Given the description of an element on the screen output the (x, y) to click on. 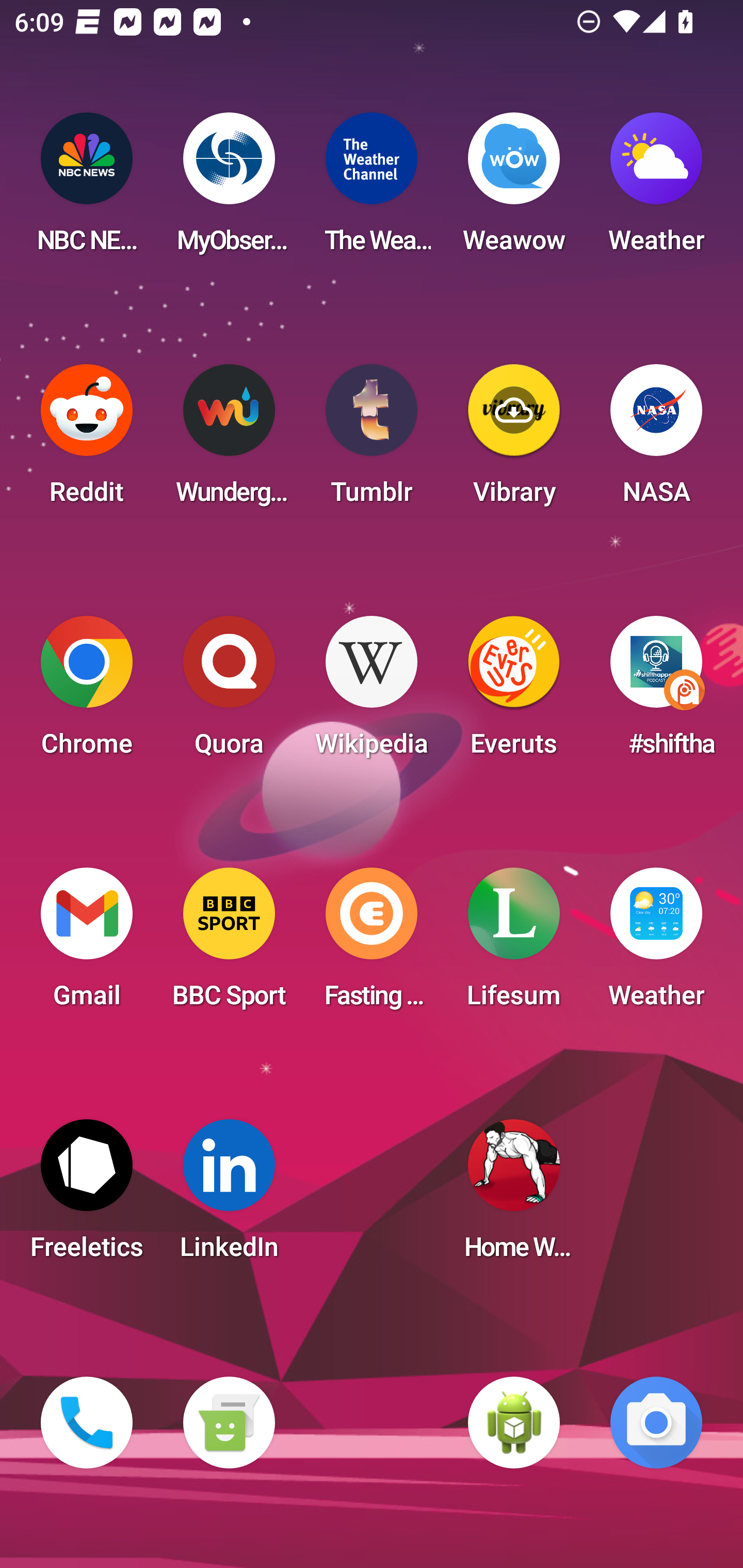
NBC NEWS (86, 188)
MyObservatory (228, 188)
The Weather Channel (371, 188)
Weawow (513, 188)
Weather (656, 188)
Reddit (86, 440)
Wunderground (228, 440)
Tumblr (371, 440)
Vibrary (513, 440)
NASA (656, 440)
Chrome (86, 692)
Quora (228, 692)
Wikipedia (371, 692)
Everuts (513, 692)
#shifthappens in the Digital Workplace Podcast (656, 692)
Gmail (86, 943)
BBC Sport (228, 943)
Fasting Coach (371, 943)
Lifesum (513, 943)
Weather (656, 943)
Freeletics (86, 1195)
LinkedIn (228, 1195)
Home Workout (513, 1195)
Phone (86, 1422)
Messaging (228, 1422)
WebView Browser Tester (513, 1422)
Camera (656, 1422)
